Given the description of an element on the screen output the (x, y) to click on. 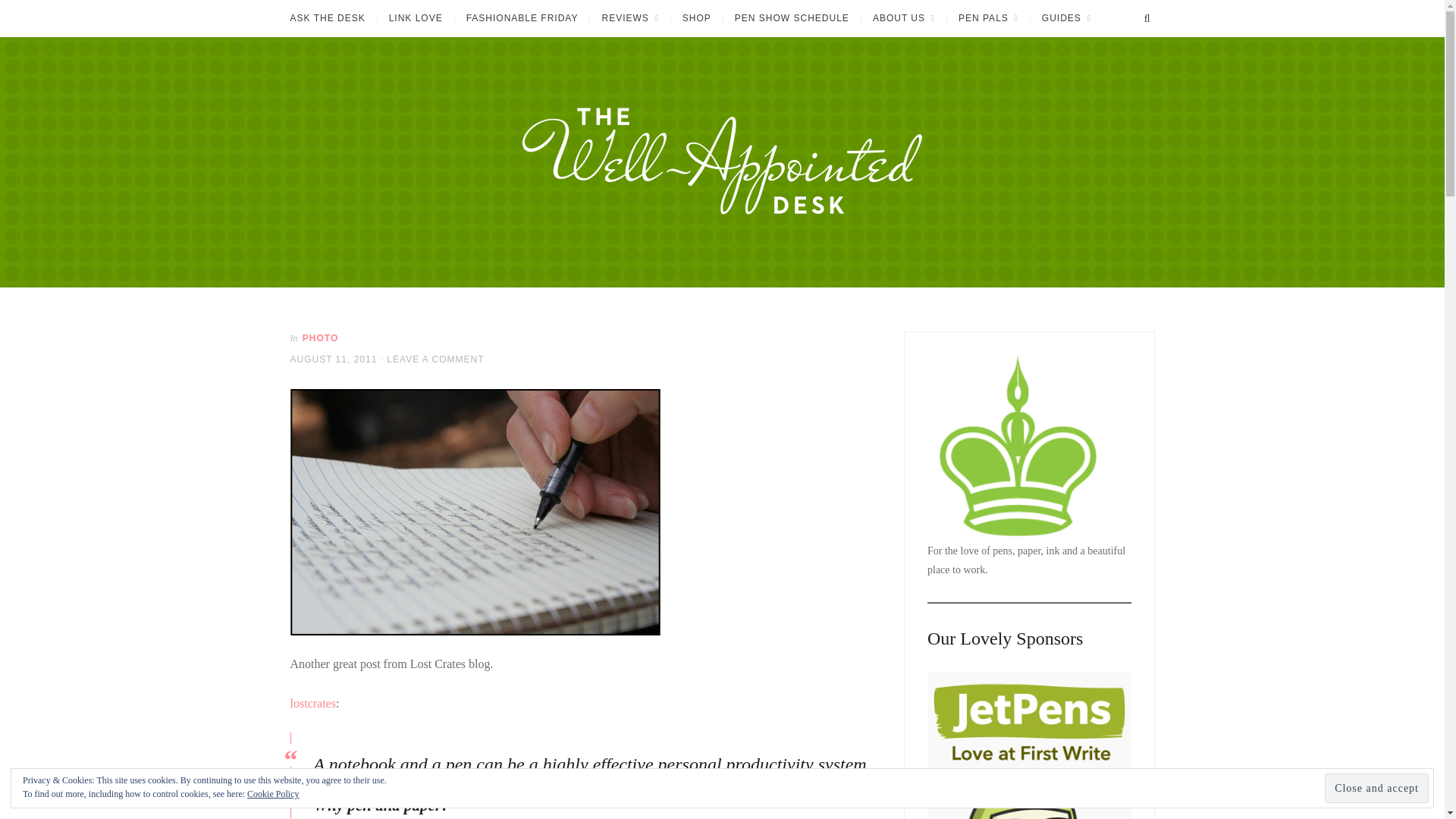
PEN SHOW SCHEDULE (791, 17)
FASHIONABLE FRIDAY (521, 17)
AUGUST 11, 2011 (333, 358)
GUIDES (1065, 17)
lostcrates (311, 703)
PHOTO (319, 337)
SHOP (695, 17)
REVIEWS (629, 17)
ABOUT US (903, 17)
LEAVE A COMMENT (435, 358)
